Given the description of an element on the screen output the (x, y) to click on. 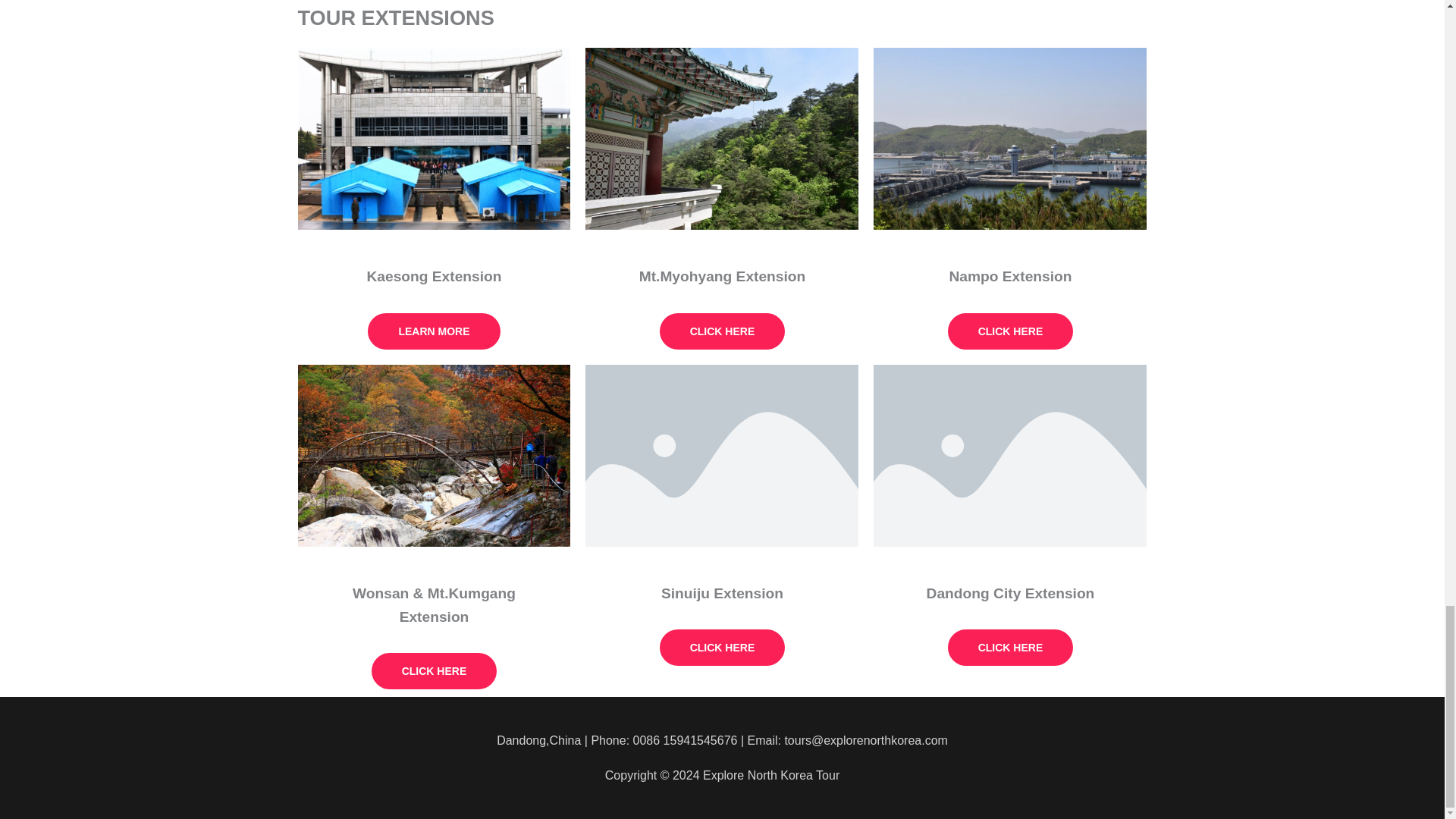
LEARN MORE (433, 330)
CLICK HERE (722, 647)
CLICK HERE (1010, 647)
CLICK HERE (722, 330)
CLICK HERE (434, 670)
CLICK HERE (1010, 330)
